Given the description of an element on the screen output the (x, y) to click on. 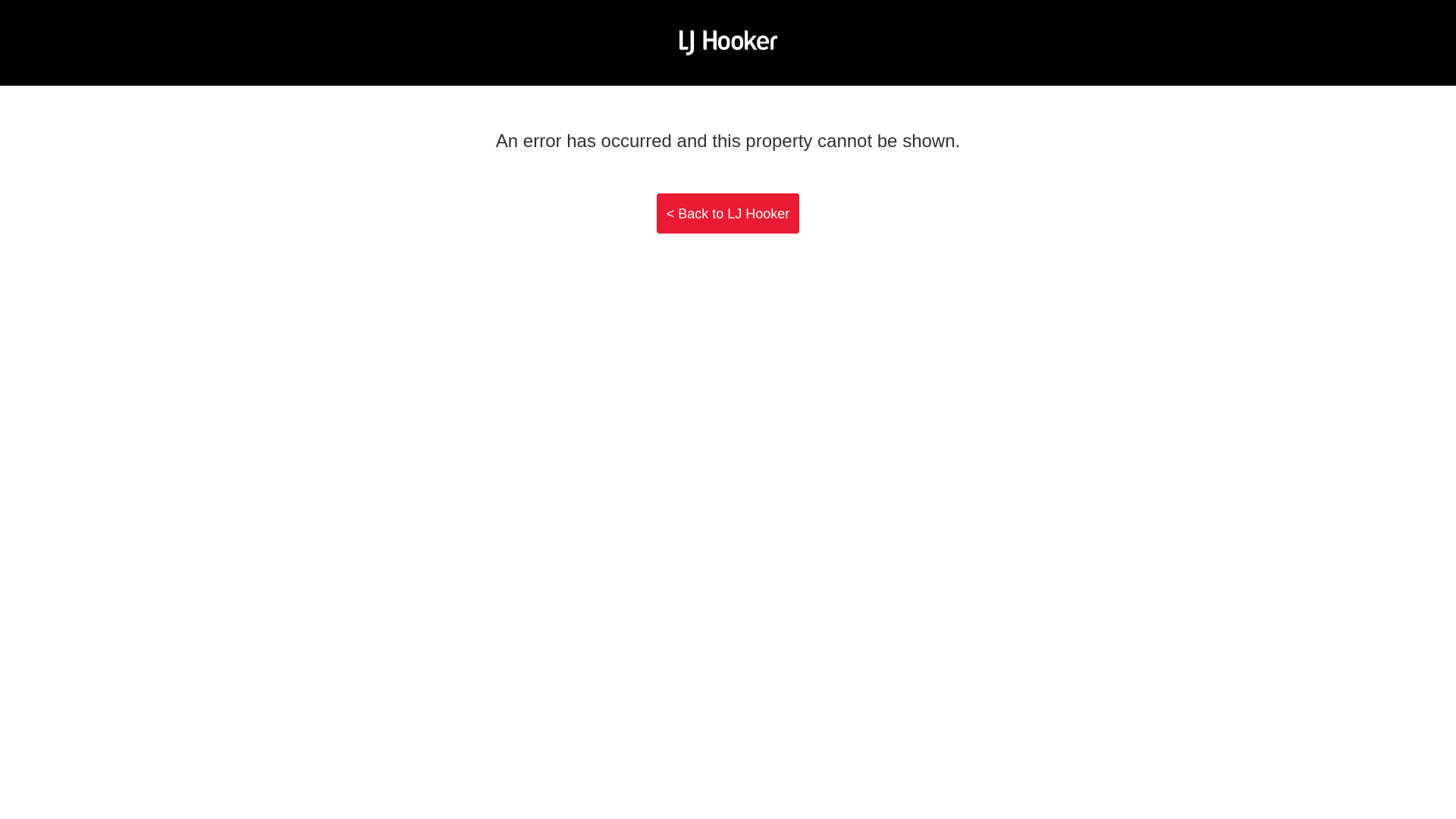
< Back to LJ Hooker Element type: text (728, 213)
